Given the description of an element on the screen output the (x, y) to click on. 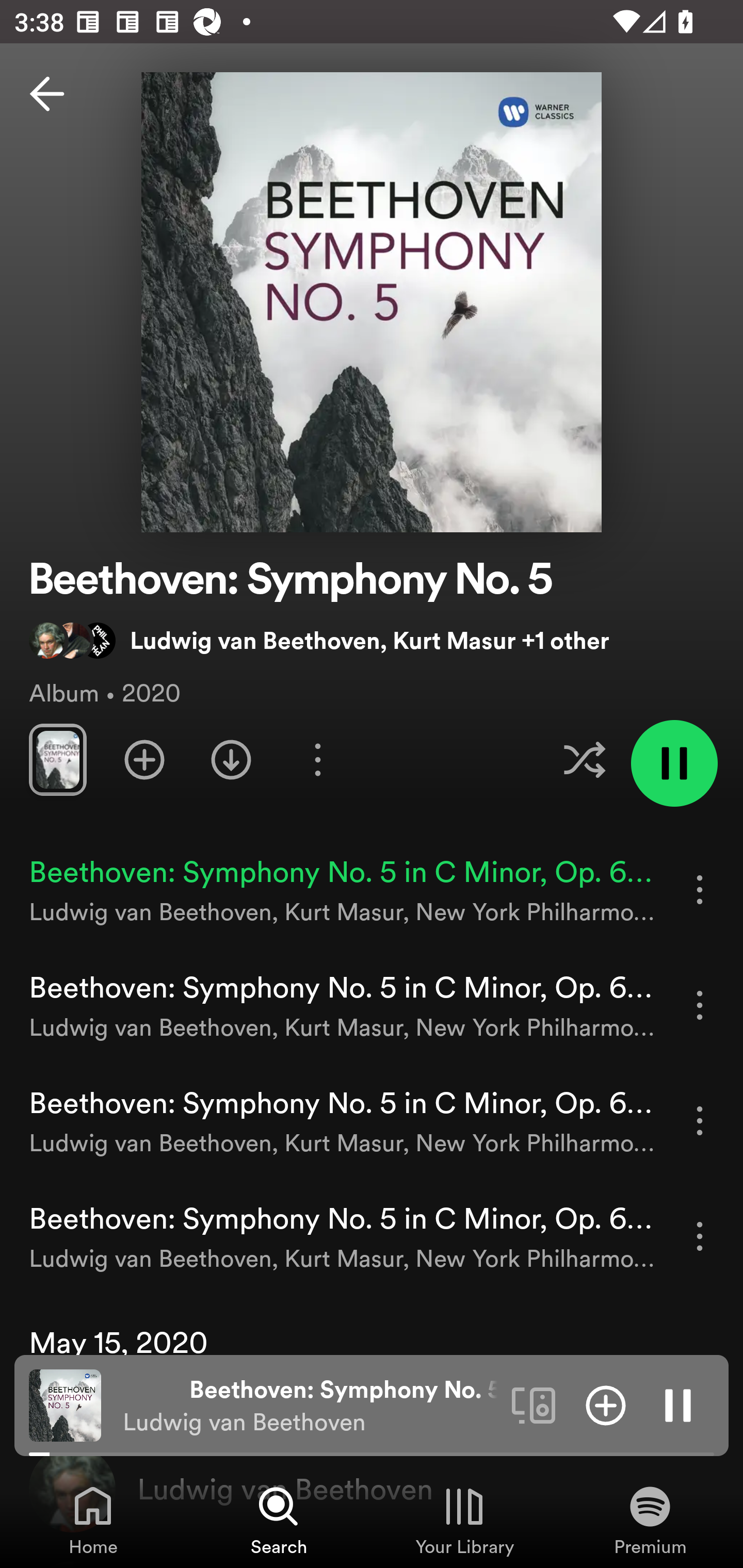
Back (46, 93)
Ludwig van Beethoven, Kurt Masur +1 other (319, 640)
Swipe through previews of tracks from this album. (57, 759)
Add playlist to Your Library (144, 759)
Download (230, 759)
Enable shuffle for this playlist (583, 759)
Pause playlist (674, 763)
The cover art of the currently playing track (64, 1404)
Connect to a device. Opens the devices menu (533, 1404)
Add item (605, 1404)
Pause (677, 1404)
Home, Tab 1 of 4 Home Home (92, 1519)
Search, Tab 2 of 4 Search Search (278, 1519)
Your Library, Tab 3 of 4 Your Library Your Library (464, 1519)
Premium, Tab 4 of 4 Premium Premium (650, 1519)
